Given the description of an element on the screen output the (x, y) to click on. 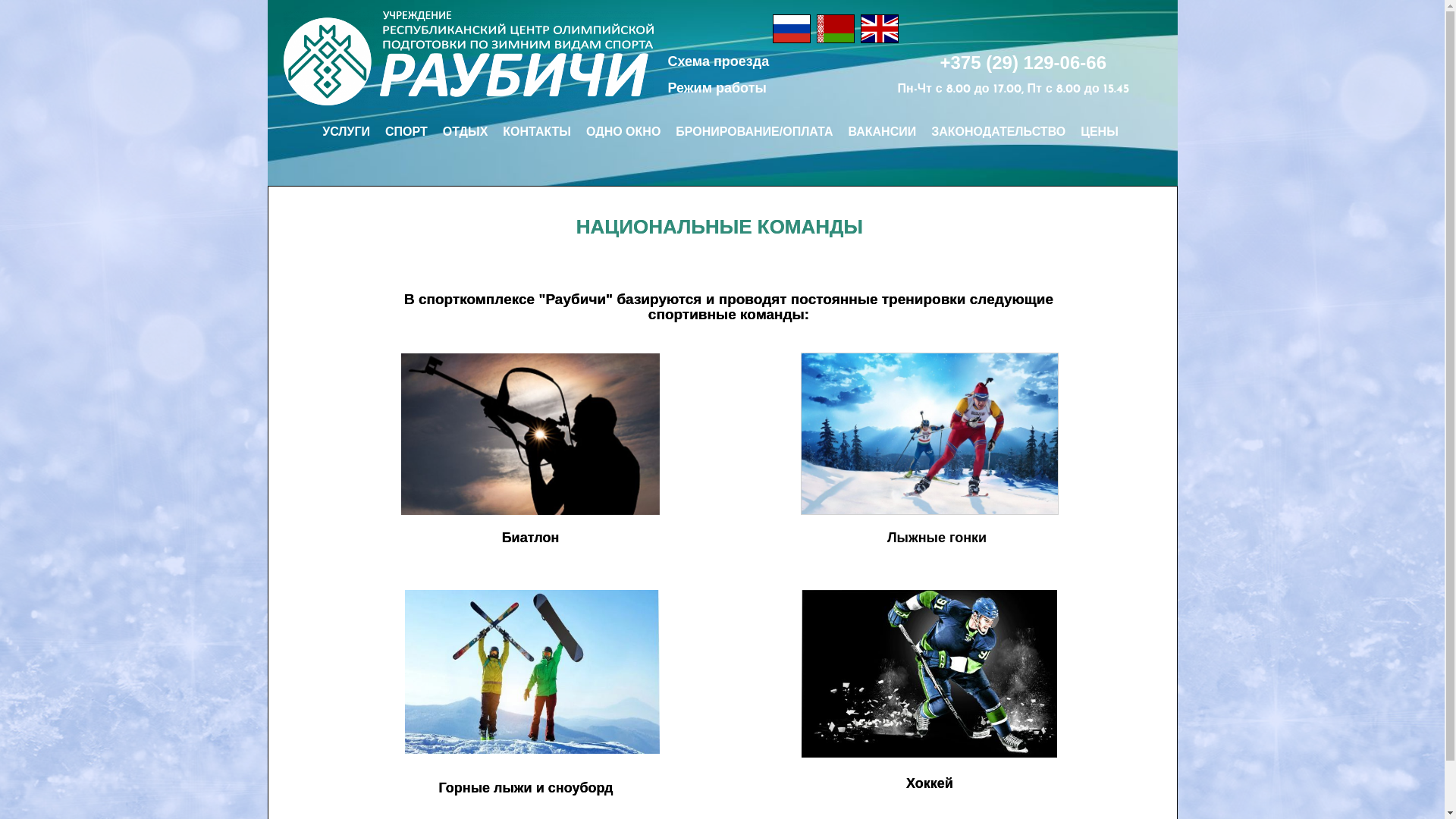
English Element type: hover (879, 28)
